Given the description of an element on the screen output the (x, y) to click on. 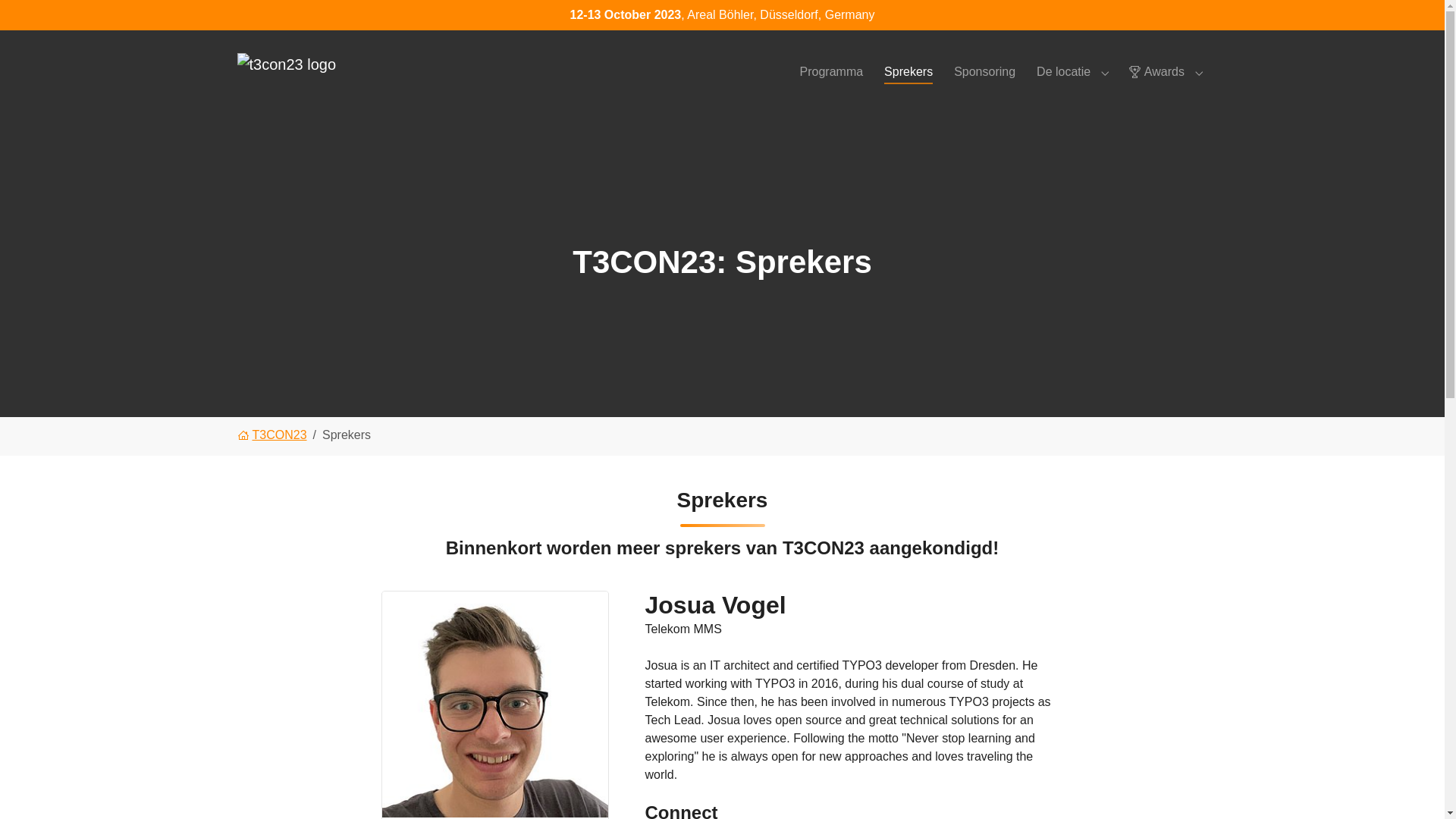
Awards (1156, 71)
Sponsoring (984, 71)
Programma (831, 71)
T3CON23 (270, 436)
De locatie (1063, 71)
Josua Vogel (494, 703)
T3CON23 (270, 436)
